Given the description of an element on the screen output the (x, y) to click on. 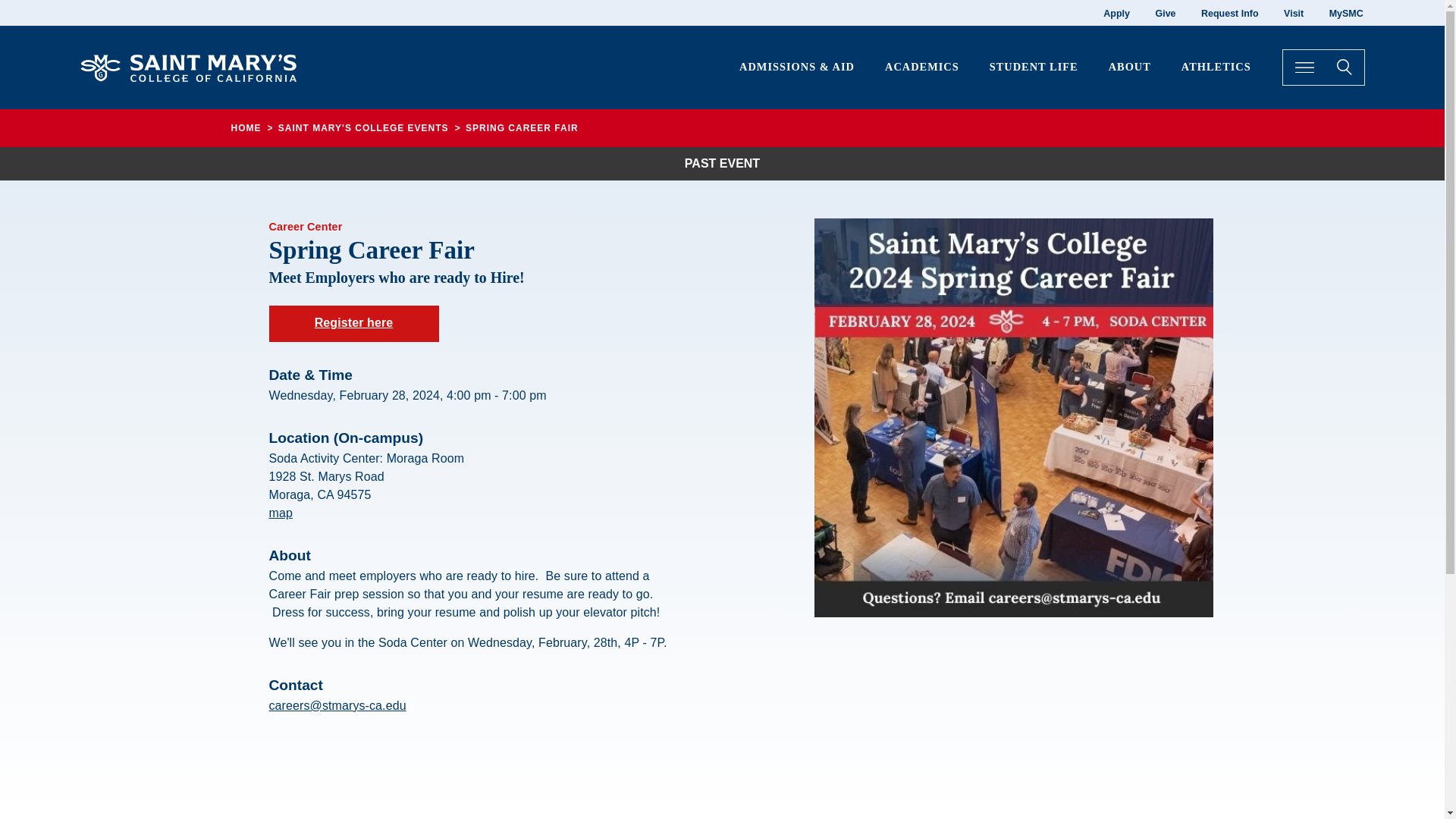
Request Info (1230, 13)
Visit (1293, 13)
MySMC (1345, 13)
ACADEMICS (922, 66)
Give (1164, 13)
Apply (1116, 13)
Home (194, 65)
